Given the description of an element on the screen output the (x, y) to click on. 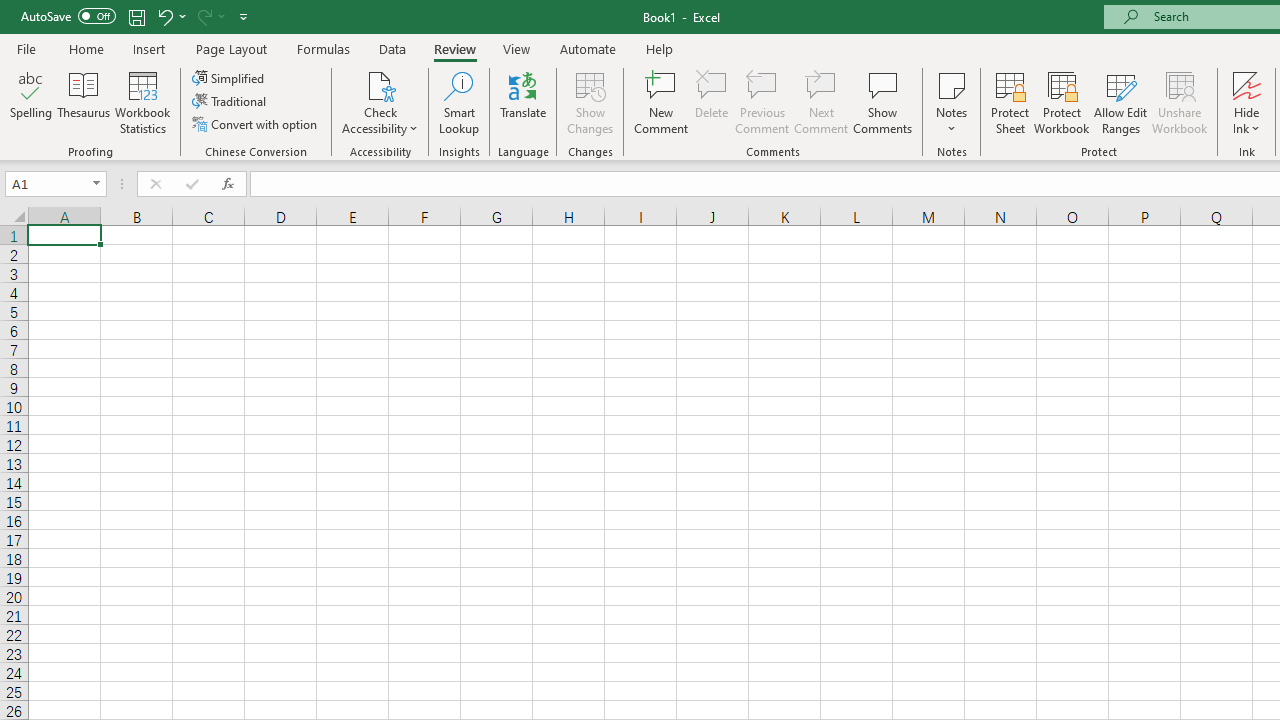
Protect Workbook... (1061, 102)
Hide Ink (1247, 102)
Protect Sheet... (1010, 102)
New Comment (661, 102)
Next Comment (821, 102)
Show Comments (883, 102)
Previous Comment (762, 102)
Translate (523, 102)
